Given the description of an element on the screen output the (x, y) to click on. 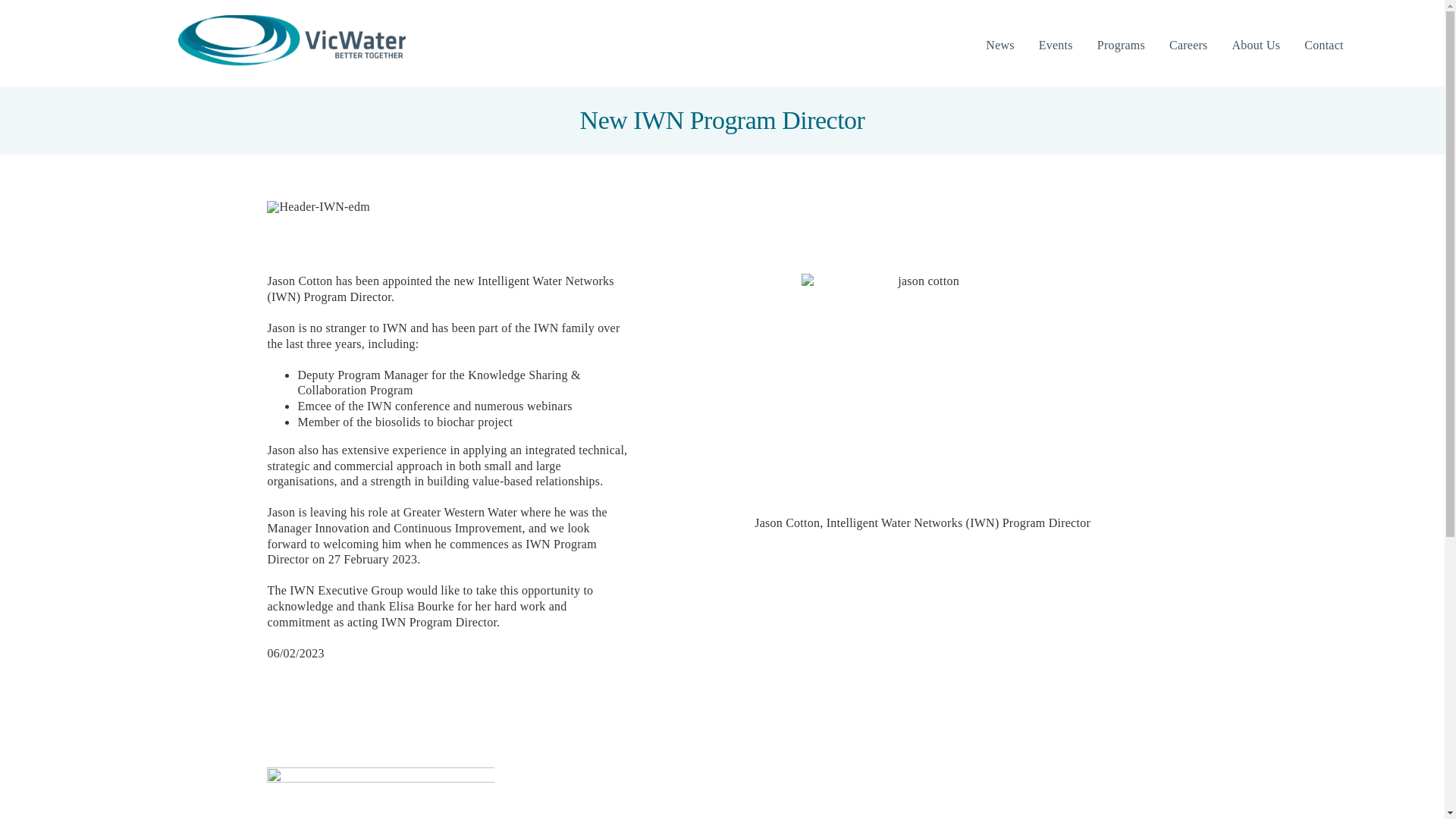
Careers (1188, 45)
News (999, 45)
Programs (1120, 45)
jason cotton (922, 394)
Contact (1323, 45)
Events (1056, 45)
About Us (1256, 45)
